Given the description of an element on the screen output the (x, y) to click on. 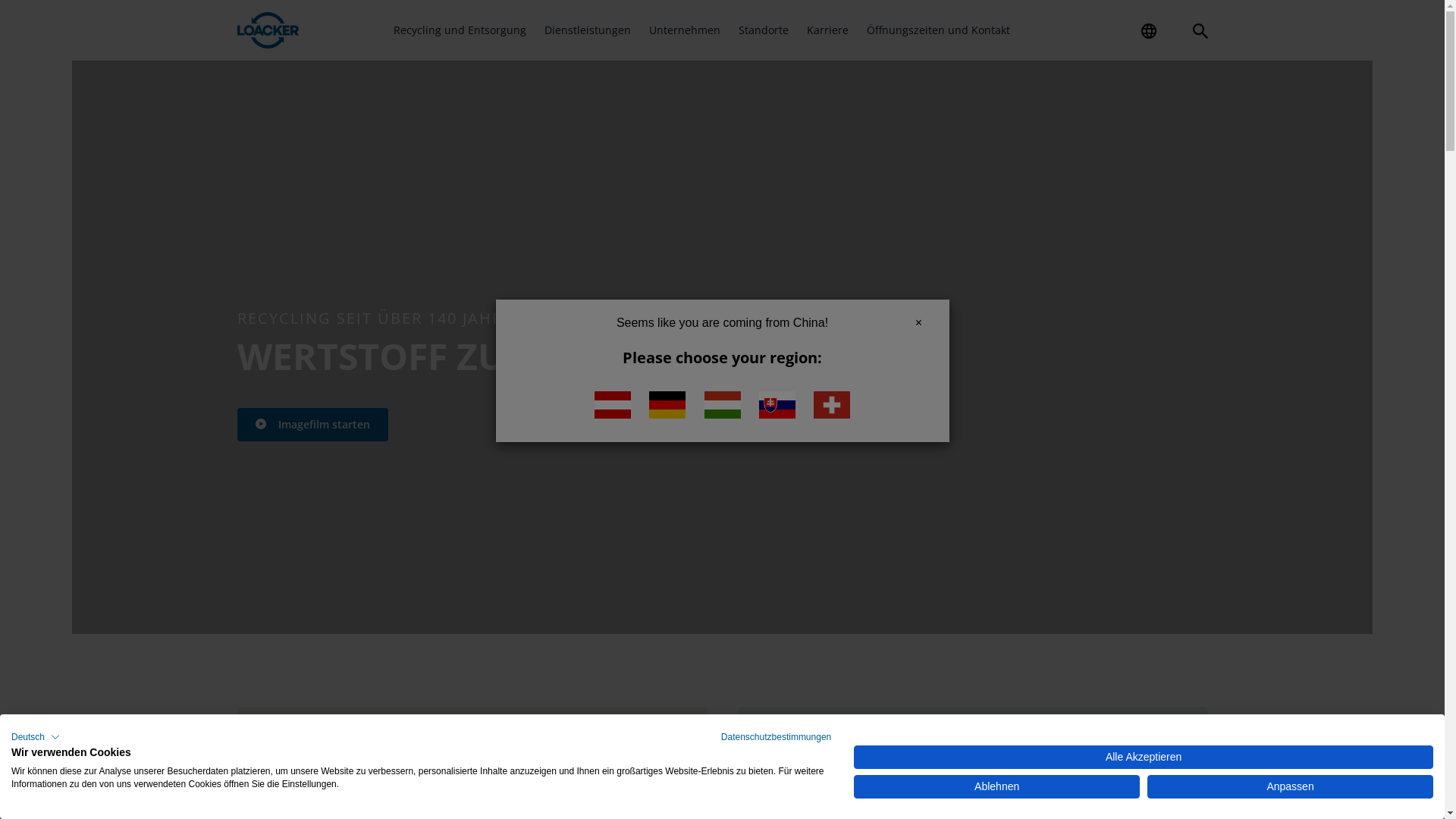
Standorte Element type: text (763, 30)
Ablehnen Element type: text (996, 786)
Datenschutzbestimmungen Element type: text (776, 736)
Zur Bestellung Element type: text (1038, 24)
Karriere Element type: text (827, 30)
zur Startseite Element type: hover (267, 30)
Anpassen Element type: text (1290, 786)
Dienstleistungen Element type: text (587, 30)
Unternehmen Element type: text (684, 30)
Recycling und Entsorgung Element type: text (459, 30)
Alle Akzeptieren Element type: text (1143, 756)
Imagefilm starten Element type: text (311, 424)
